Given the description of an element on the screen output the (x, y) to click on. 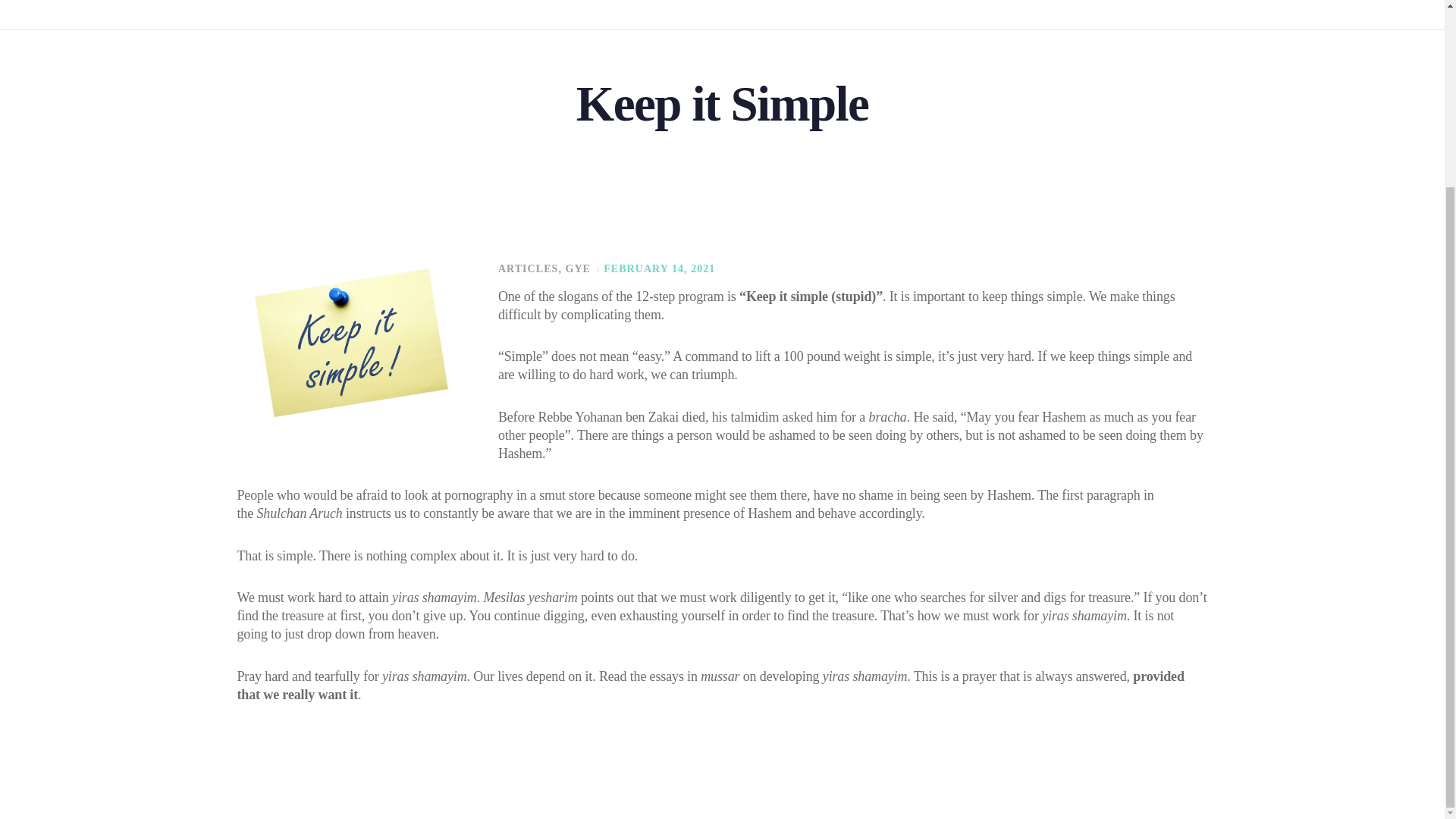
FEBRUARY 14, 2021 (659, 268)
ARTICLES (528, 268)
GYE (578, 268)
